Given the description of an element on the screen output the (x, y) to click on. 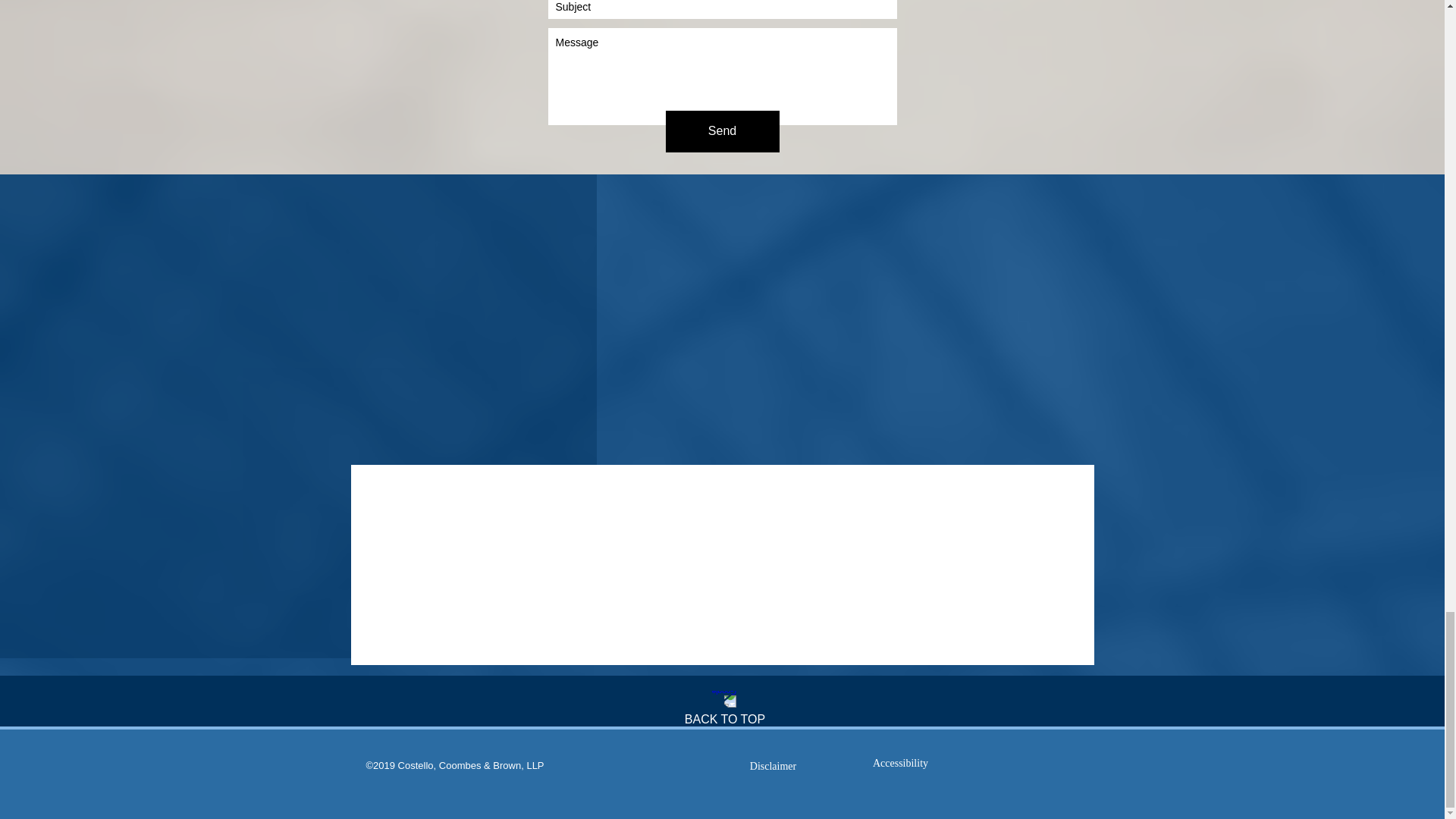
Disclaimer (773, 766)
Accessibility (899, 763)
BACK TO TOP (724, 718)
Send (721, 131)
